Given the description of an element on the screen output the (x, y) to click on. 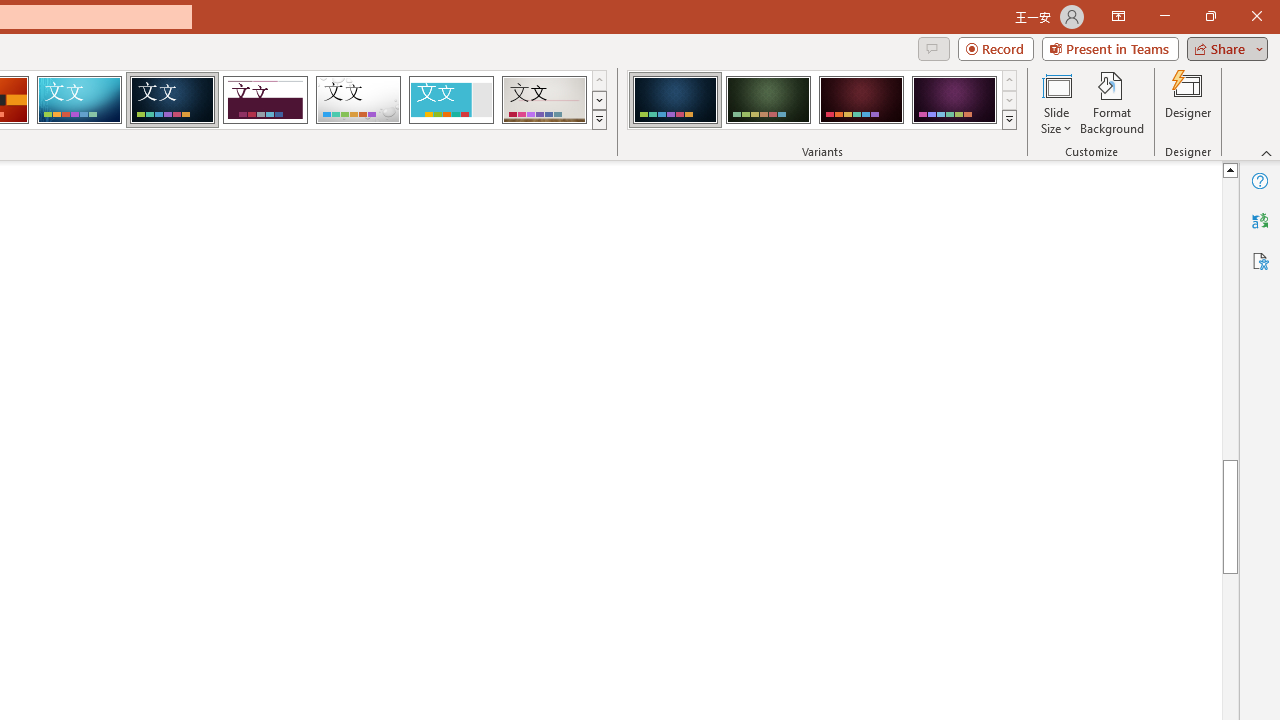
Damask Variant 1 (674, 100)
Damask Variant 4 (953, 100)
